Given the description of an element on the screen output the (x, y) to click on. 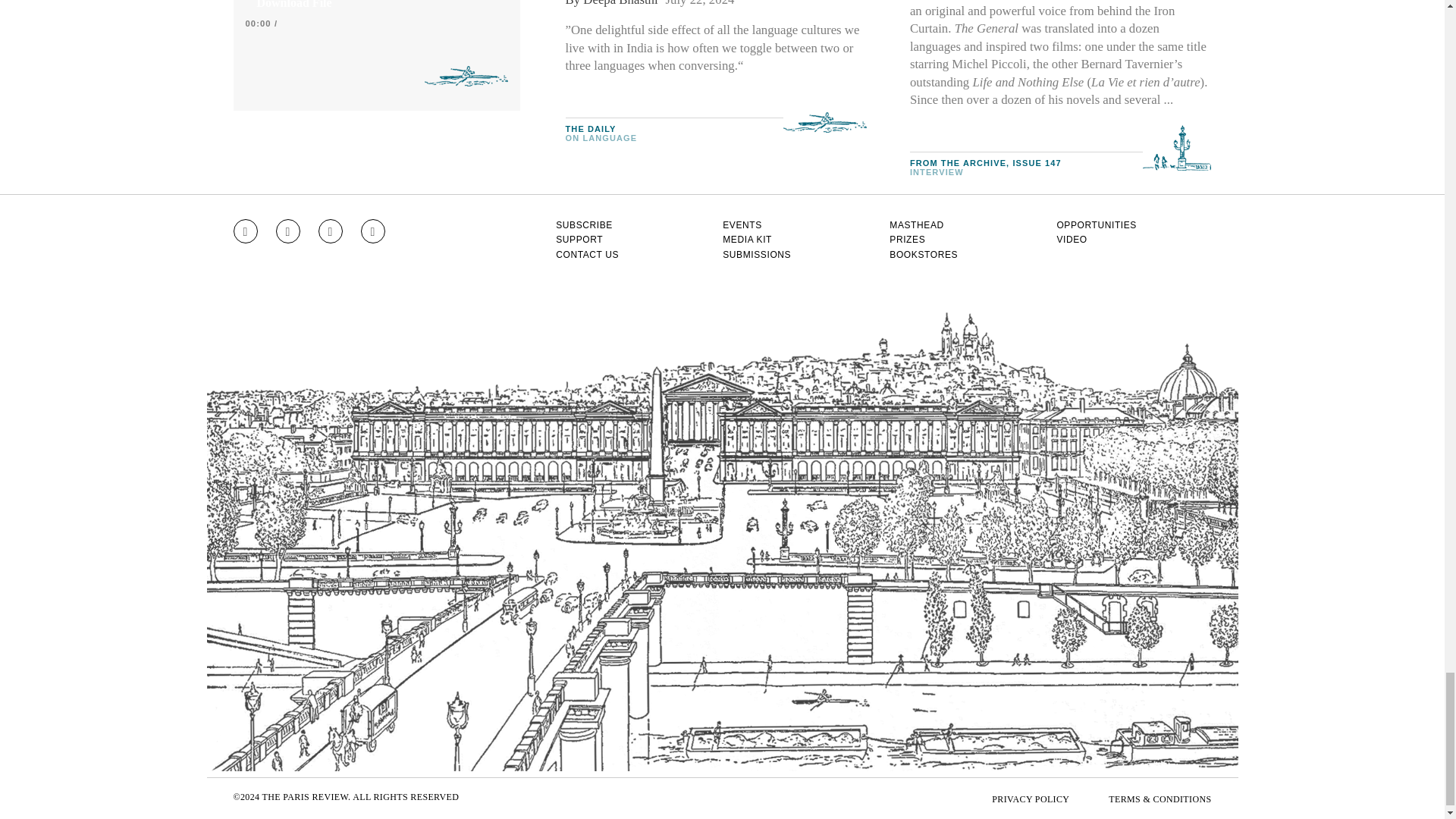
Go to Instagram feed (244, 231)
Go to RSS feed (373, 231)
Go to Twitter feed (330, 231)
Go to Facebook page (287, 231)
